Given the description of an element on the screen output the (x, y) to click on. 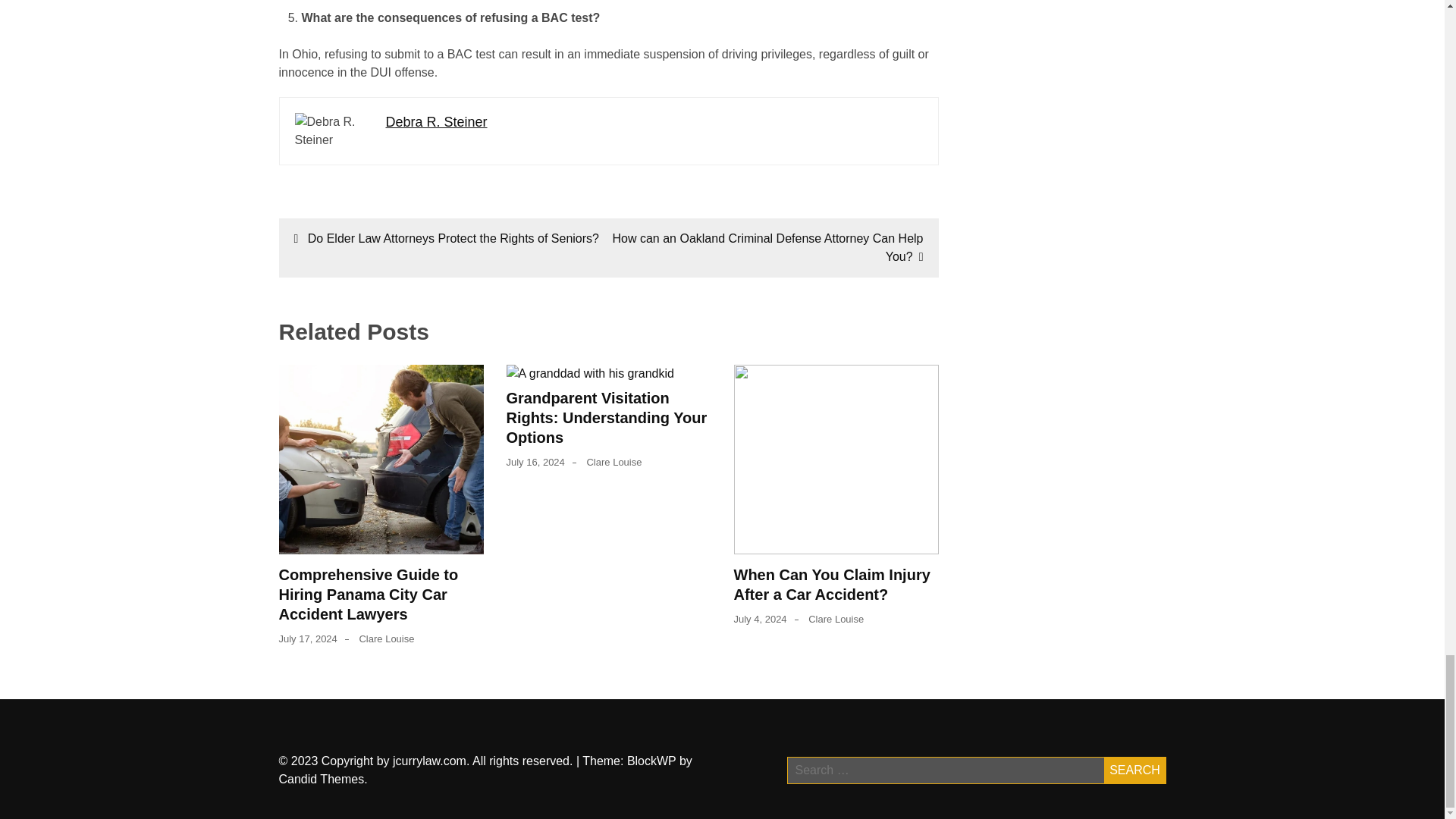
Search (1134, 769)
Search (1134, 769)
